Given the description of an element on the screen output the (x, y) to click on. 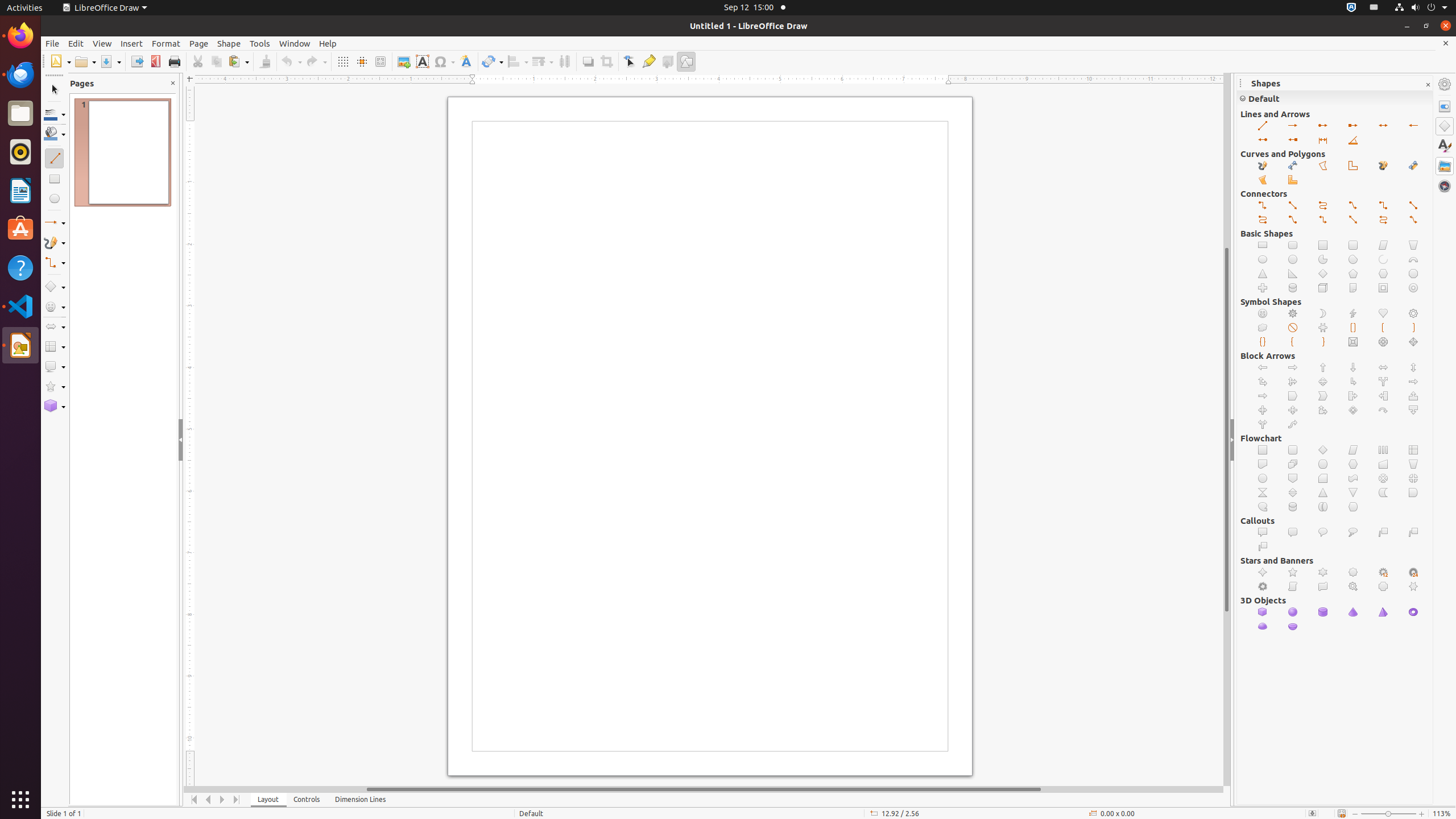
Flowchart: Manual Input Element type: list-item (1383, 464)
Octagon Bevel Element type: list-item (1383, 341)
